Given the description of an element on the screen output the (x, y) to click on. 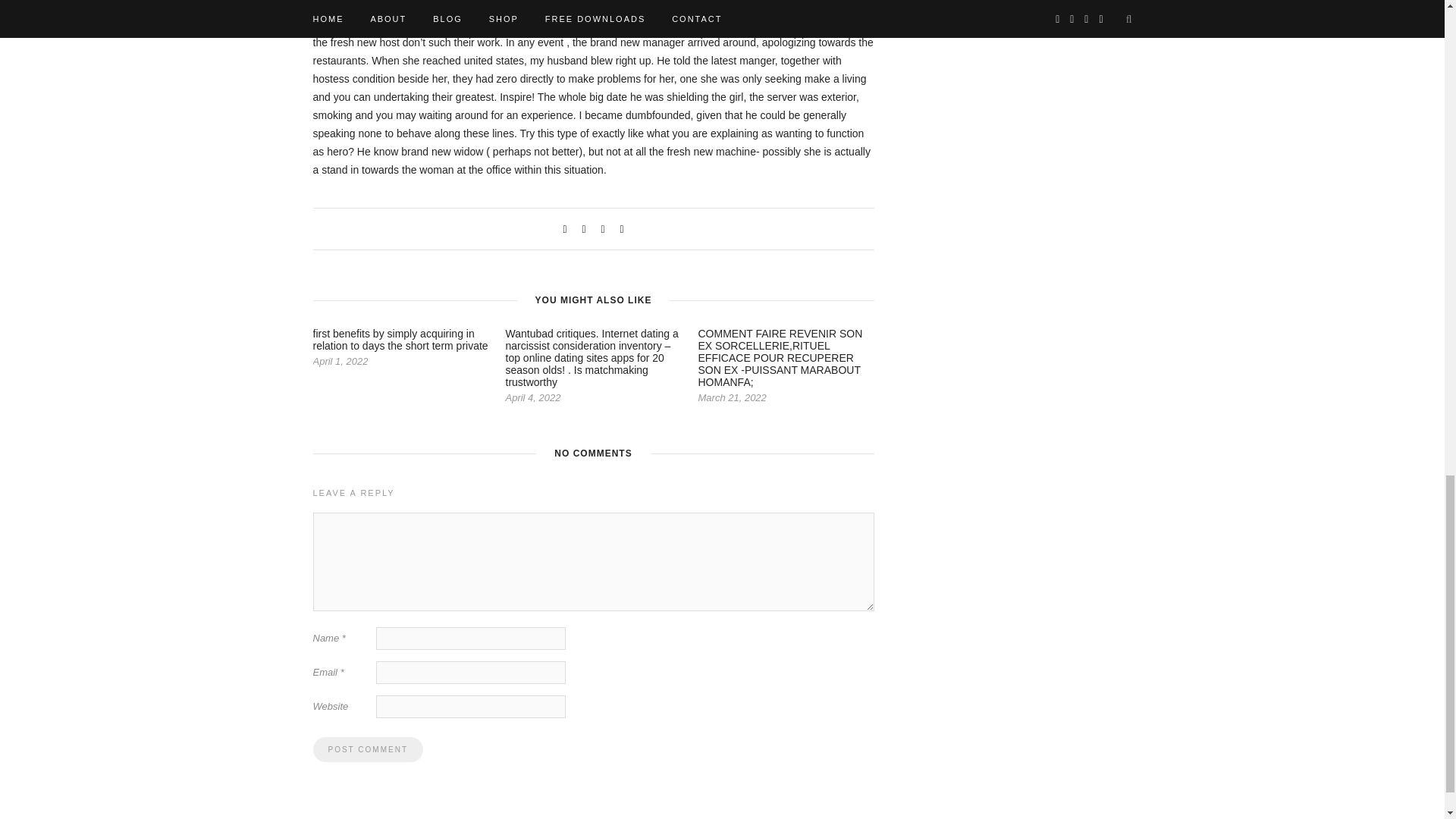
Post Comment (367, 749)
Post Comment (367, 749)
